Given the description of an element on the screen output the (x, y) to click on. 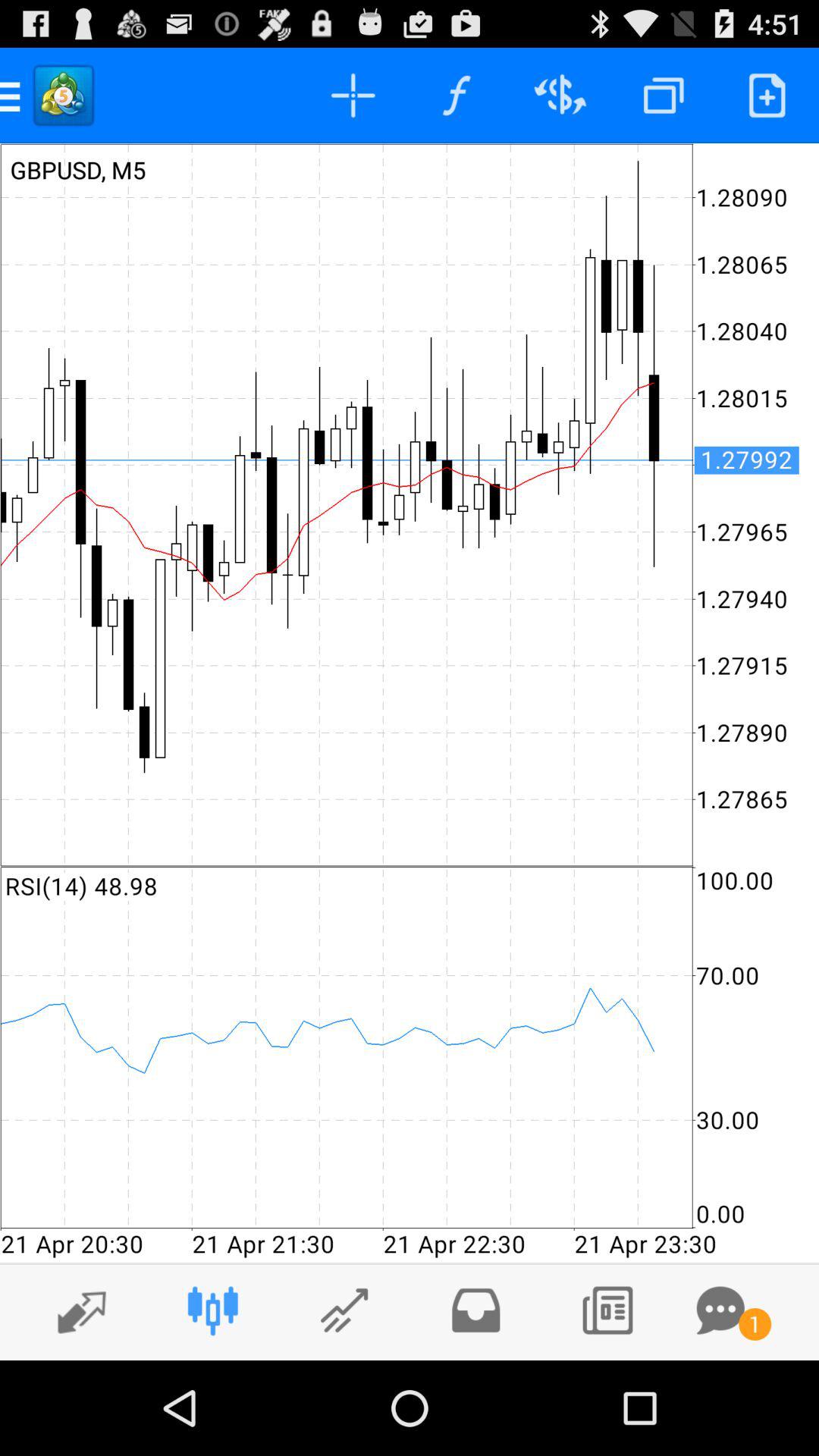
click the copy button (663, 95)
click on add more icon (767, 95)
click on third icon from top right corner (560, 95)
move to fourth left icon at bottom (475, 1310)
click the button on the right next to the button which is on the bottom left corner of the web page (213, 1310)
click on third icon from left side in the bottom row (344, 1310)
